Given the description of an element on the screen output the (x, y) to click on. 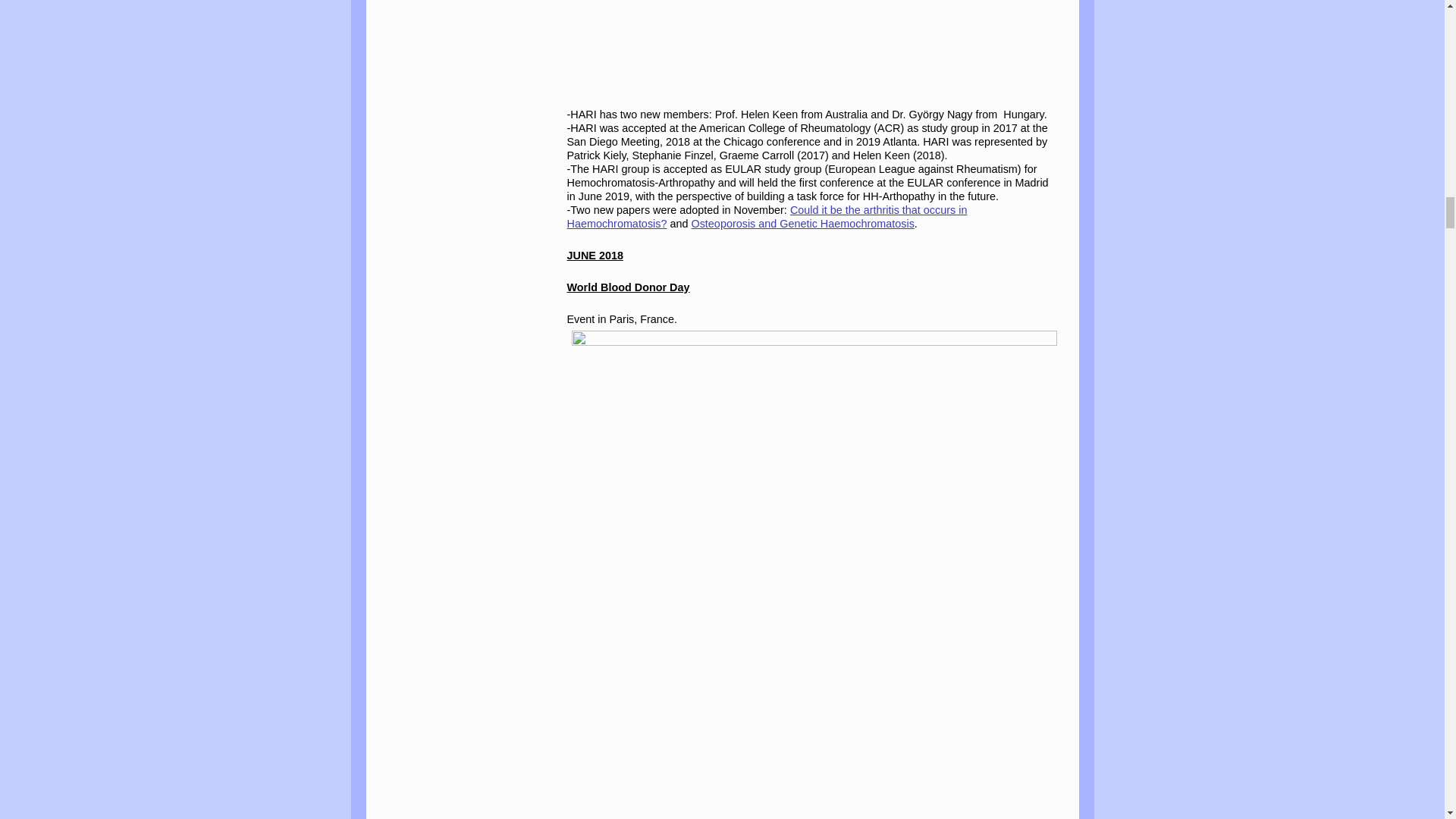
HARI group 30.April 2018 London (814, 44)
